Given the description of an element on the screen output the (x, y) to click on. 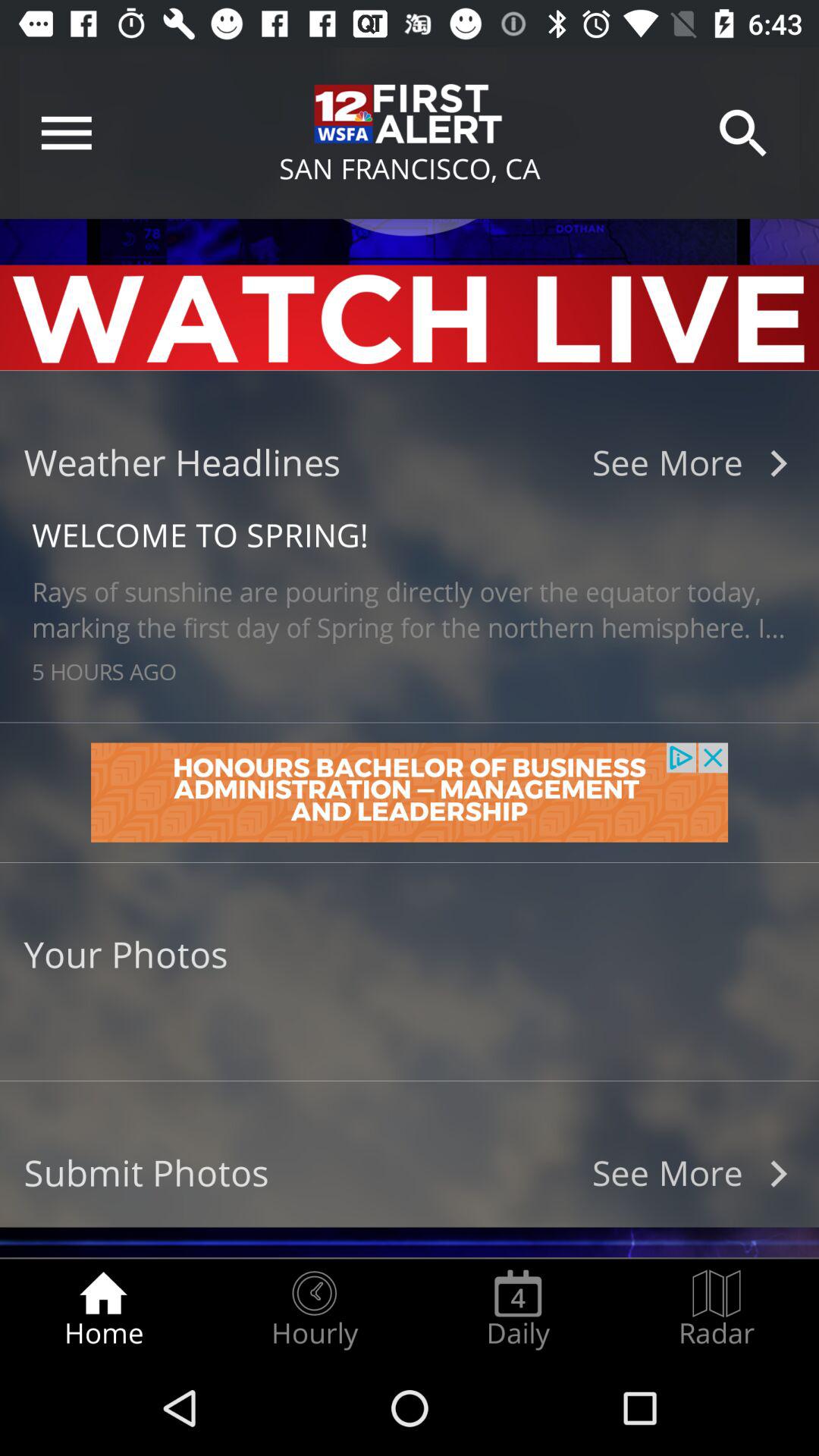
turn on hourly (314, 1309)
